Given the description of an element on the screen output the (x, y) to click on. 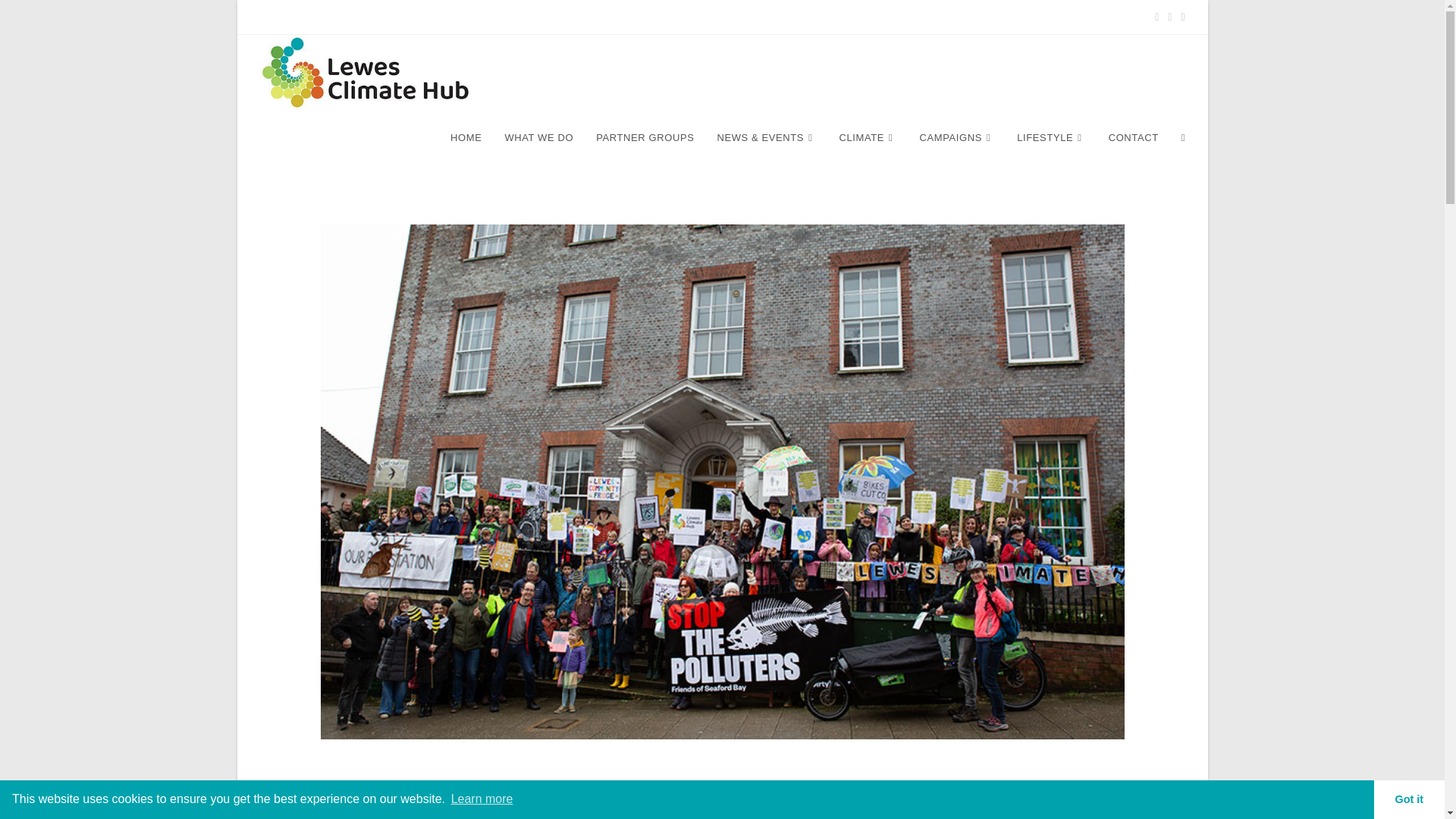
HOME (466, 137)
PARTNER GROUPS (644, 137)
CONTACT (1133, 137)
CLIMATE (868, 137)
CAMPAIGNS (956, 137)
WHAT WE DO (539, 137)
LIFESTYLE (1051, 137)
